Given the description of an element on the screen output the (x, y) to click on. 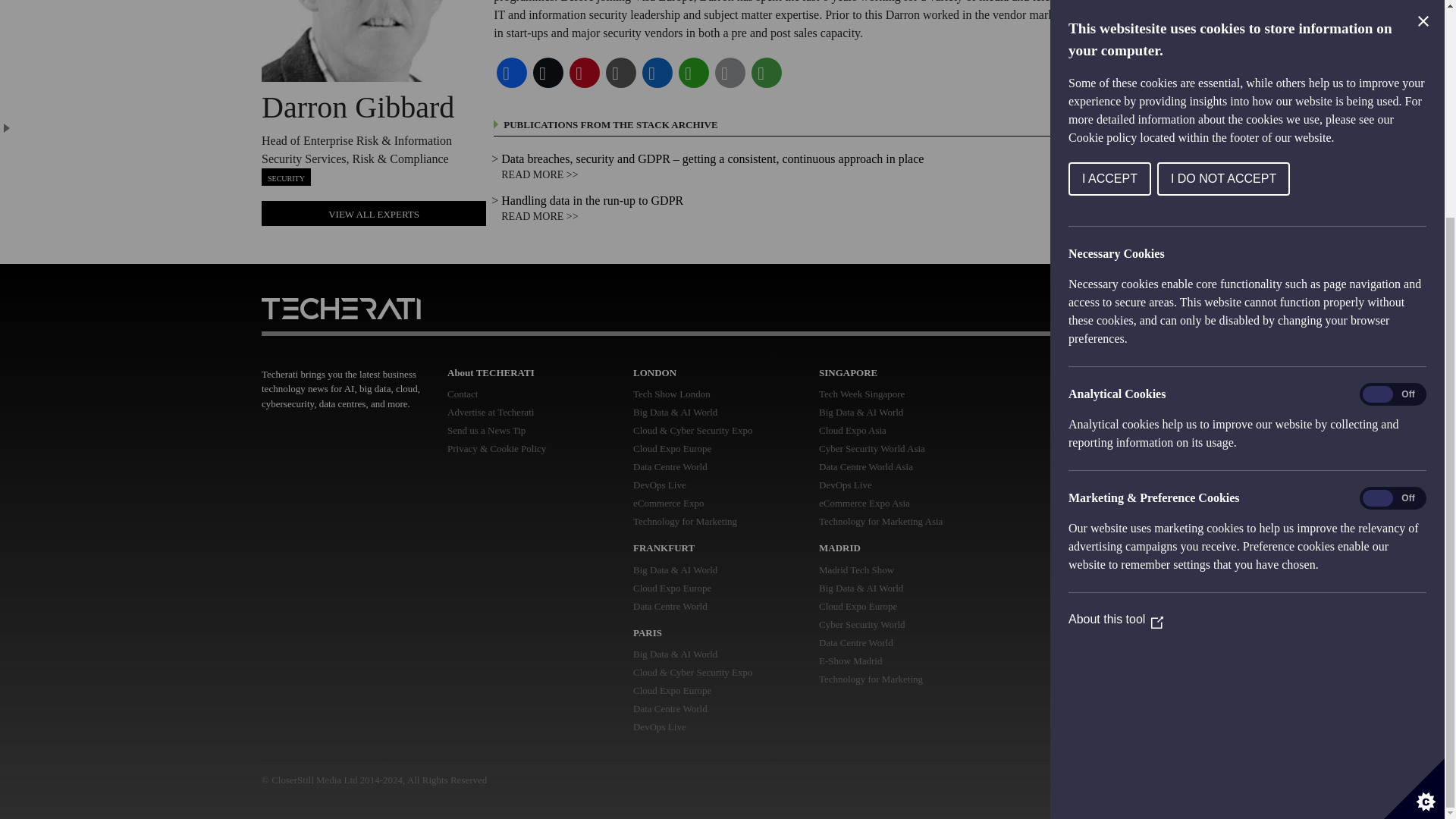
LinkedIn (657, 72)
More Options (766, 72)
Copy Link (620, 72)
Email This (729, 72)
Pinterest (584, 72)
WhatsApp (693, 72)
Facebook (511, 72)
